Given the description of an element on the screen output the (x, y) to click on. 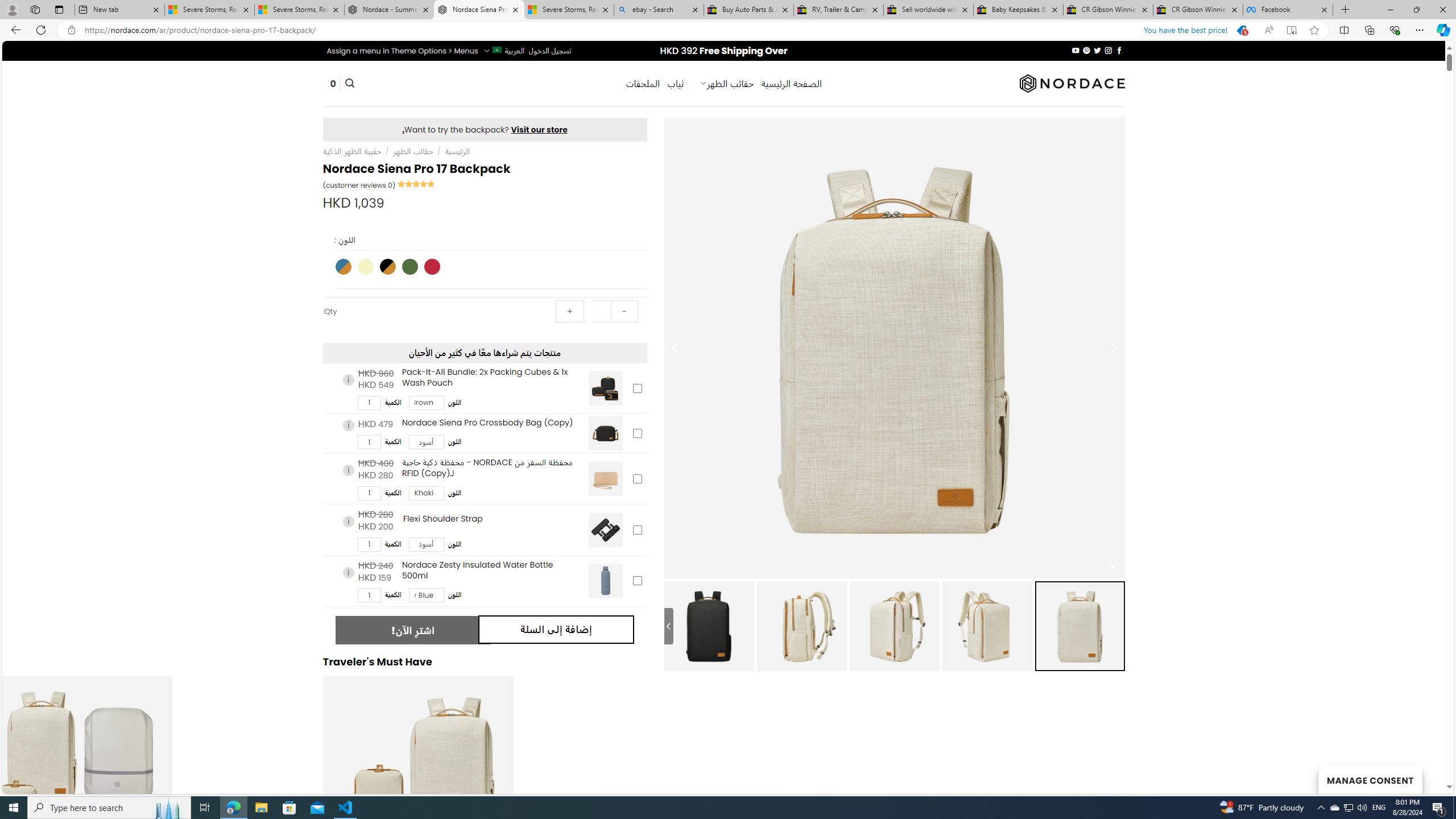
Add this product to cart (636, 580)
Facebook (1287, 9)
Nordace Siena Pro 17 Backpack (708, 625)
Assign a menu in Theme Options > Menus (402, 50)
+ (569, 311)
Pack-It-All Bundle: 2x Packing Cubes & 1x Wash Pouch (605, 388)
